Given the description of an element on the screen output the (x, y) to click on. 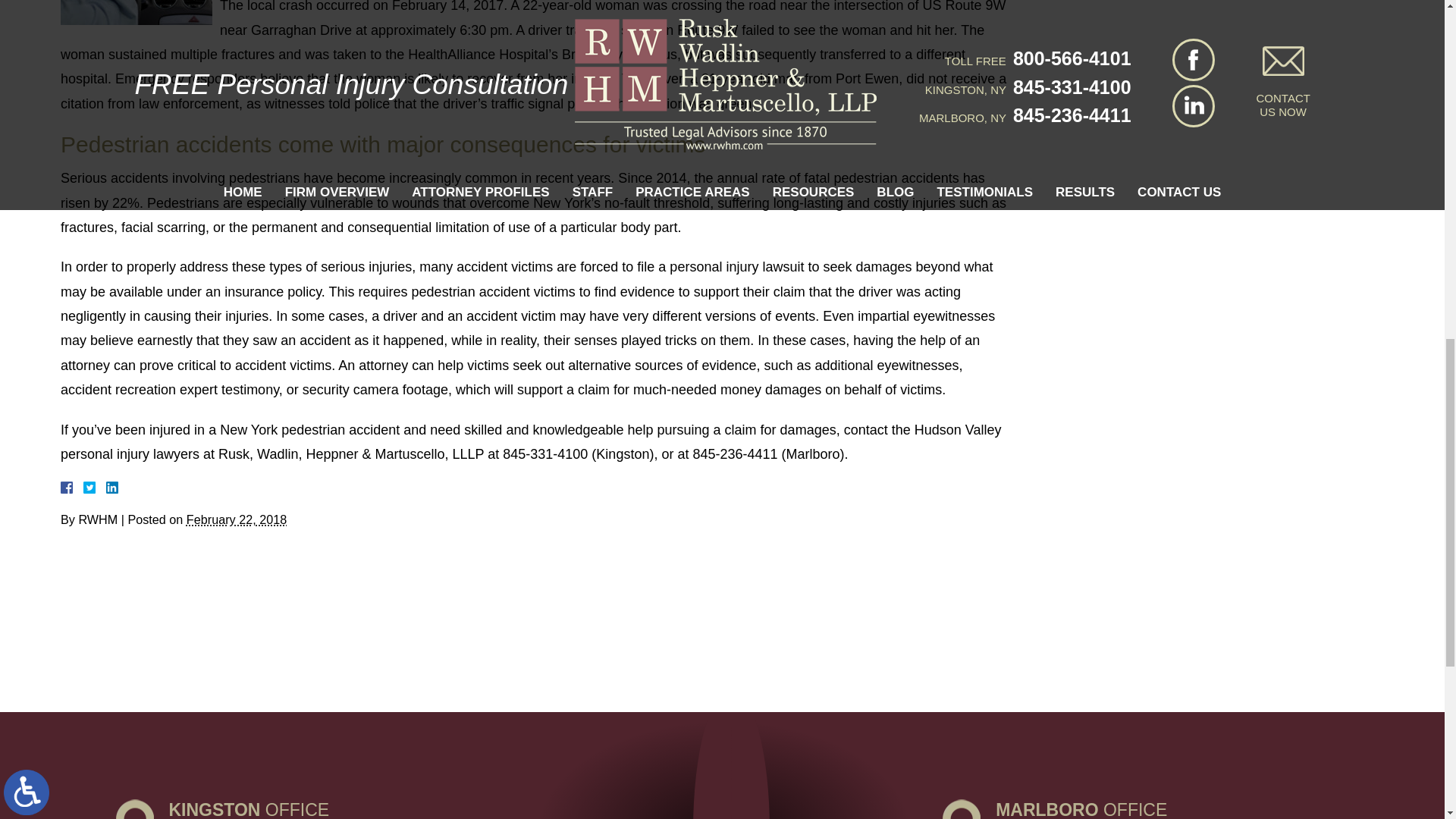
Facebook (85, 487)
2018-02-22T21:50:53-0800 (236, 519)
LinkedIn (106, 487)
Twitter (95, 487)
car almost hits Pedestrian (136, 12)
